Given the description of an element on the screen output the (x, y) to click on. 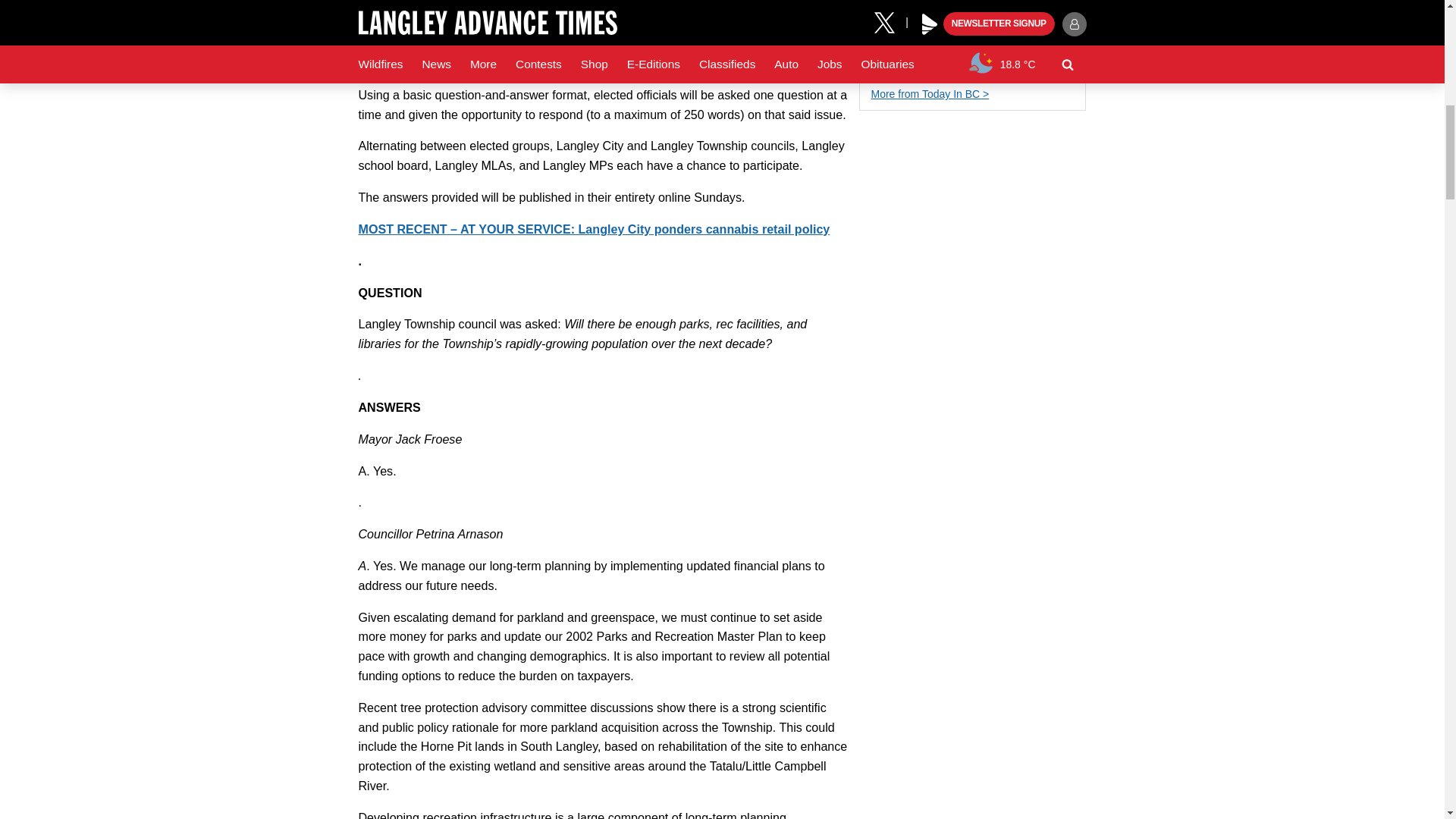
Has a gallery (876, 65)
